Given the description of an element on the screen output the (x, y) to click on. 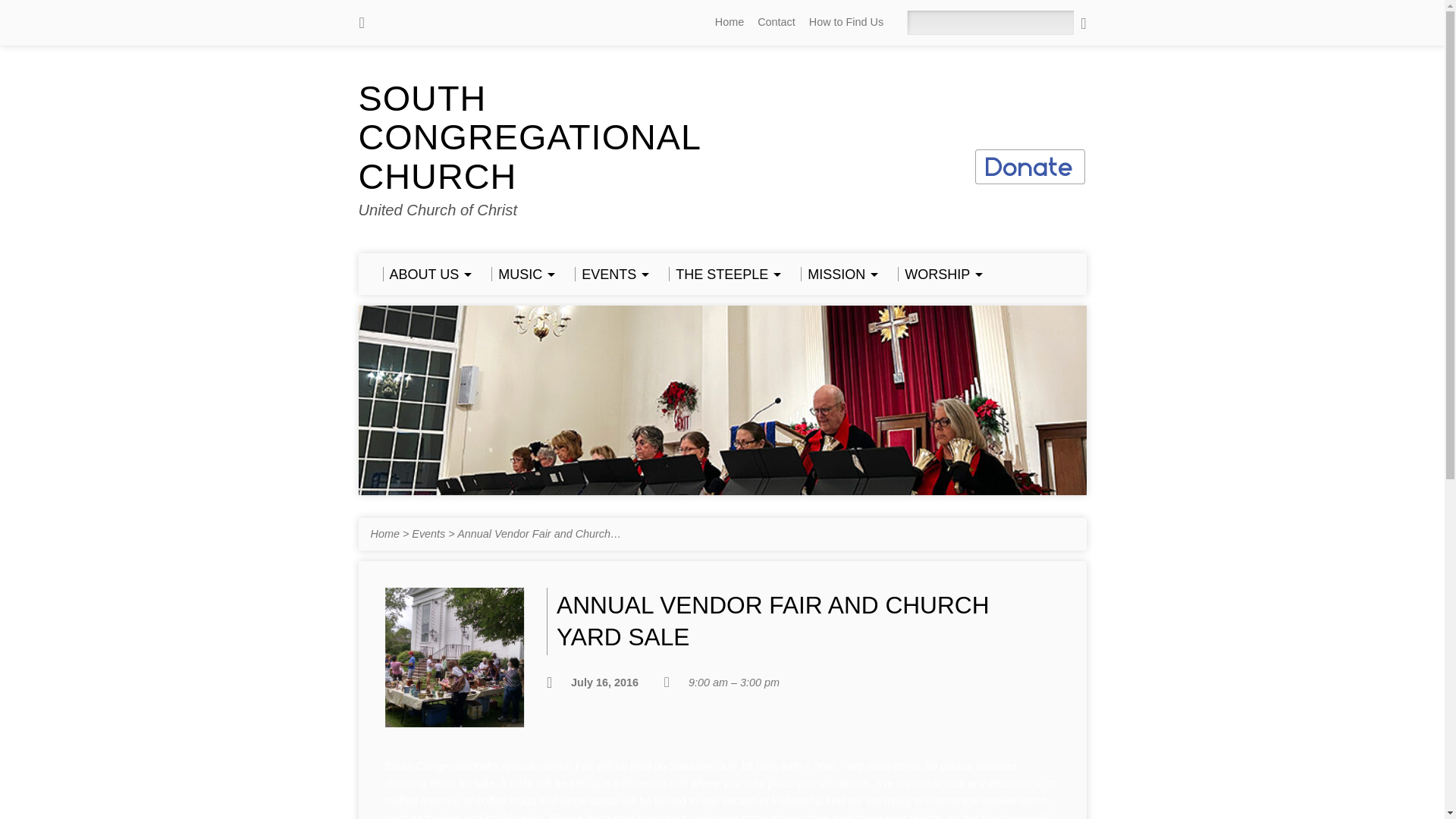
How to Find Us (846, 21)
MISSION (836, 273)
Contact (775, 21)
Home (383, 533)
WORSHIP (938, 273)
THE STEEPLE (722, 273)
MUSIC (521, 273)
Events (428, 533)
ABOUT US (424, 273)
SOUTH CONGREGATIONAL CHURCH (529, 137)
Home (729, 21)
EVENTS (610, 273)
